Given the description of an element on the screen output the (x, y) to click on. 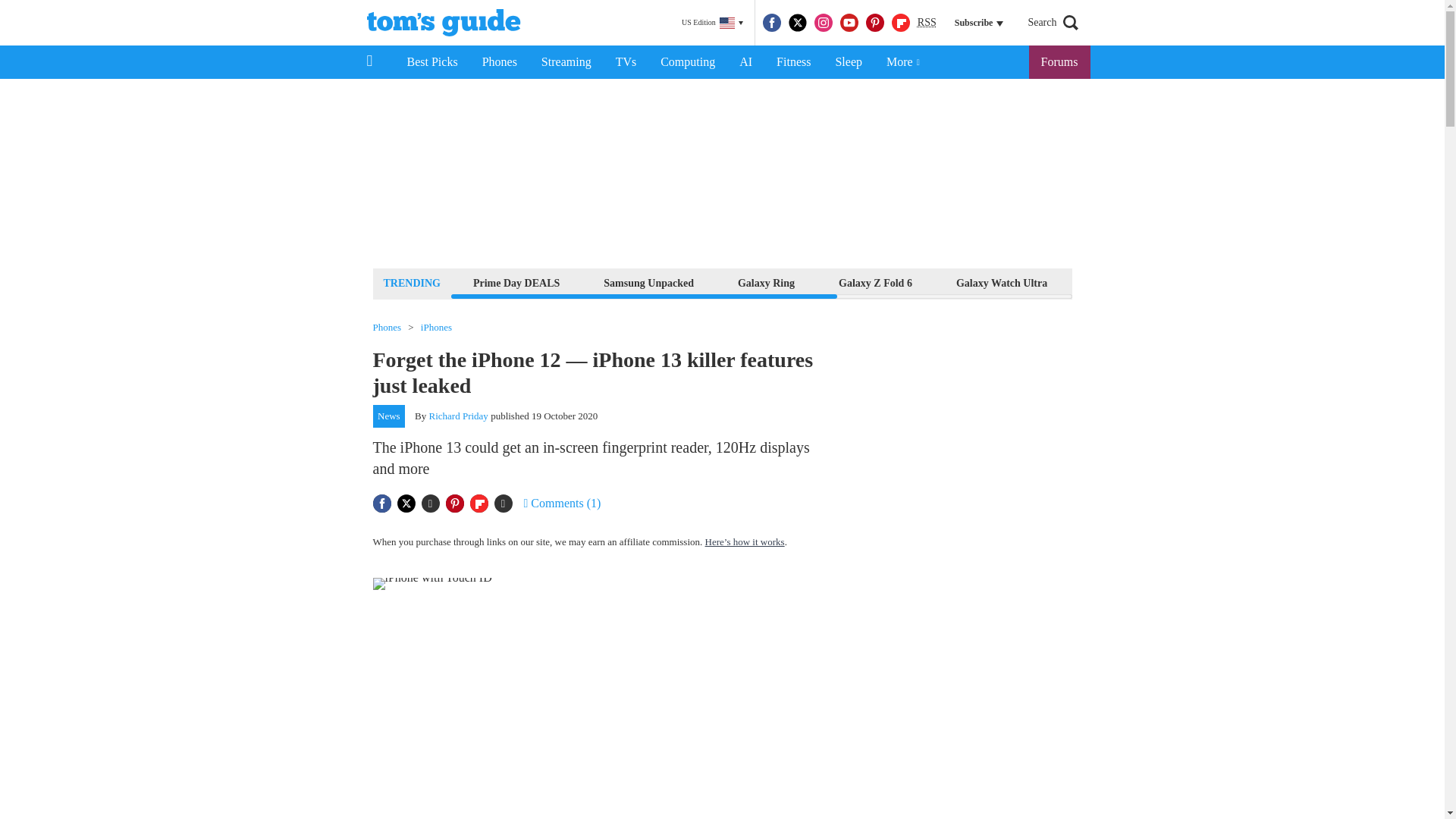
Computing (686, 61)
Fitness (793, 61)
Best Picks (431, 61)
TVs (626, 61)
Phones (499, 61)
US Edition (712, 22)
RSS (926, 22)
Streaming (566, 61)
Sleep (848, 61)
AI (745, 61)
Really Simple Syndication (926, 21)
